Given the description of an element on the screen output the (x, y) to click on. 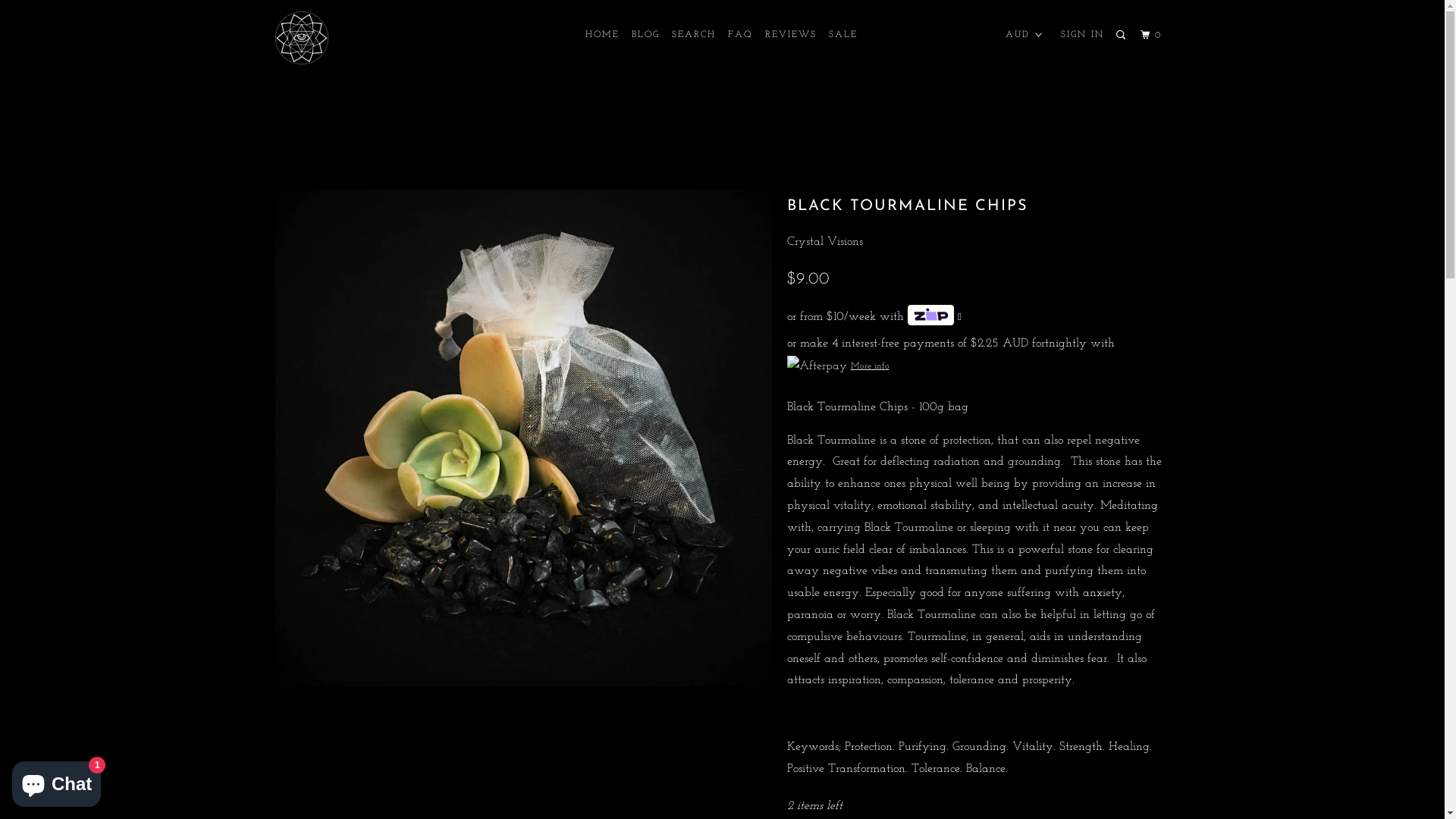
HOME Element type: text (602, 34)
0 Element type: text (1152, 35)
More info Element type: text (838, 365)
Shopify online store chat Element type: hover (56, 780)
FAQ Element type: text (740, 34)
BLOG Element type: text (645, 34)
Search Element type: hover (1122, 35)
SEARCH Element type: text (693, 34)
REVIEWS Element type: text (790, 34)
SIGN IN Element type: text (1082, 34)
SALE Element type: text (842, 34)
Crystal Visions Element type: text (824, 241)
Crystal Visions Store Element type: hover (351, 37)
Black Tourmaline Chips Element type: hover (522, 437)
